Given the description of an element on the screen output the (x, y) to click on. 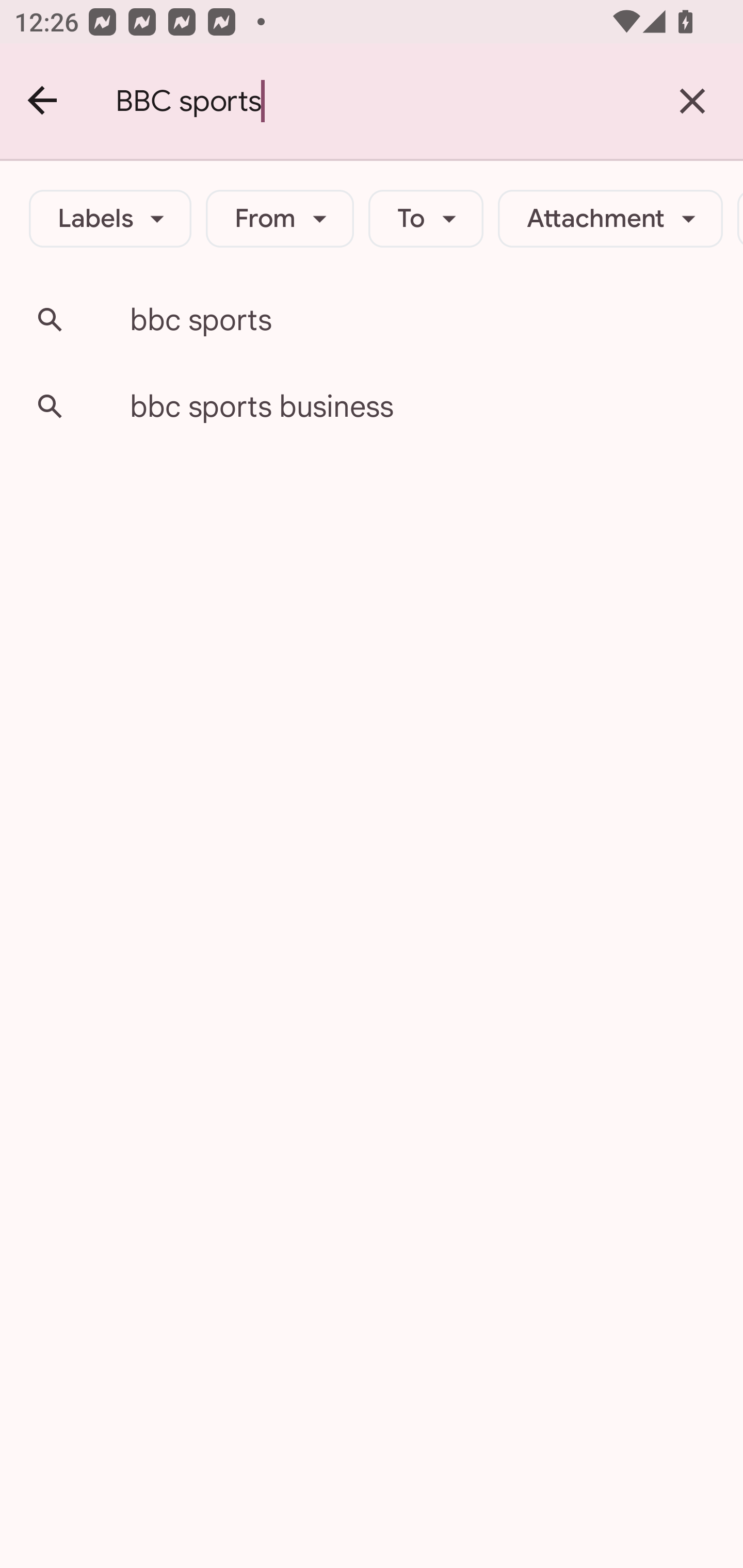
Back (43, 101)
BBC sports (378, 101)
Clear text (692, 101)
Labels (109, 218)
From (279, 218)
To (425, 218)
Attachment (609, 218)
bbc sports Suggestion: bbc sports (371, 319)
